Given the description of an element on the screen output the (x, y) to click on. 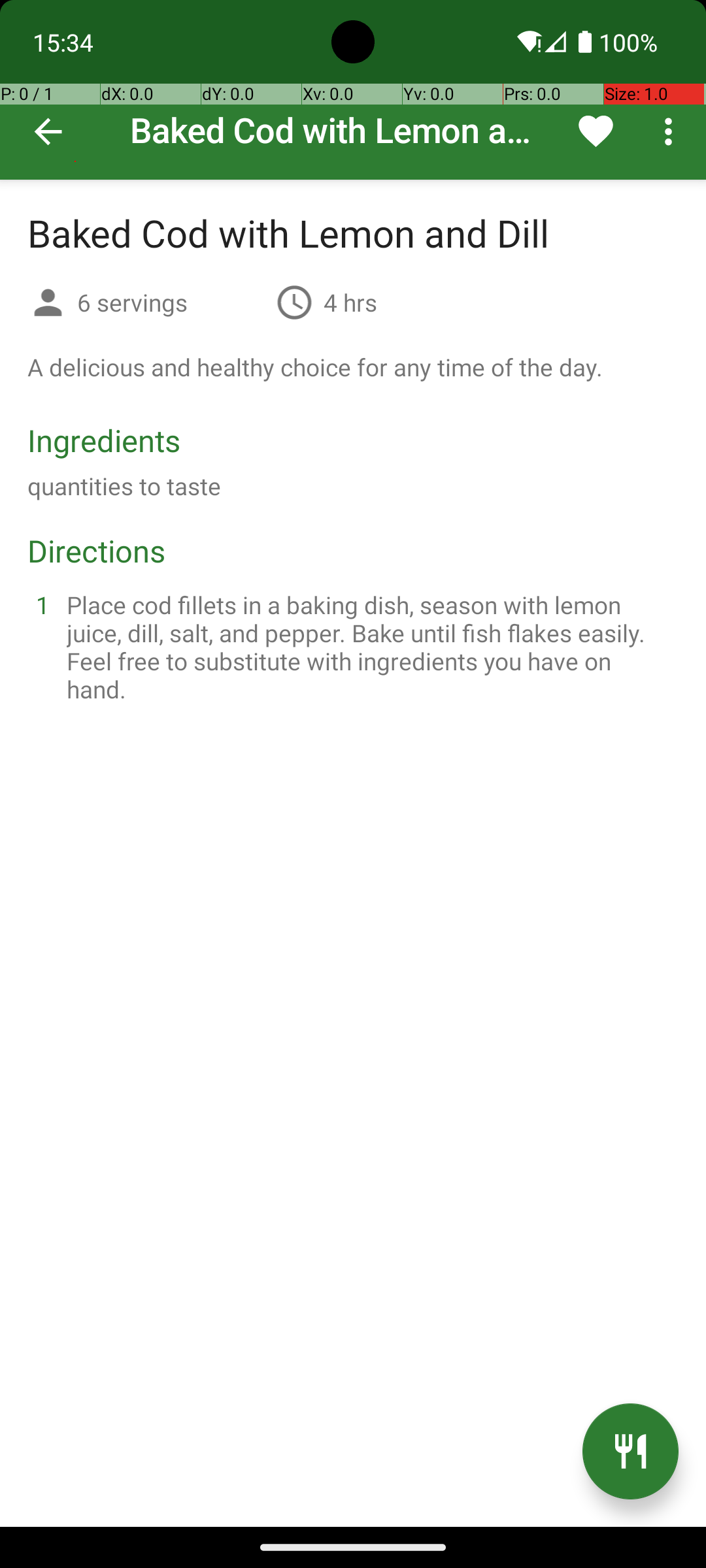
Place cod fillets in a baking dish, season with lemon juice, dill, salt, and pepper. Bake until fish flakes easily. Feel free to substitute with ingredients you have on hand. Element type: android.widget.TextView (368, 646)
